Given the description of an element on the screen output the (x, y) to click on. 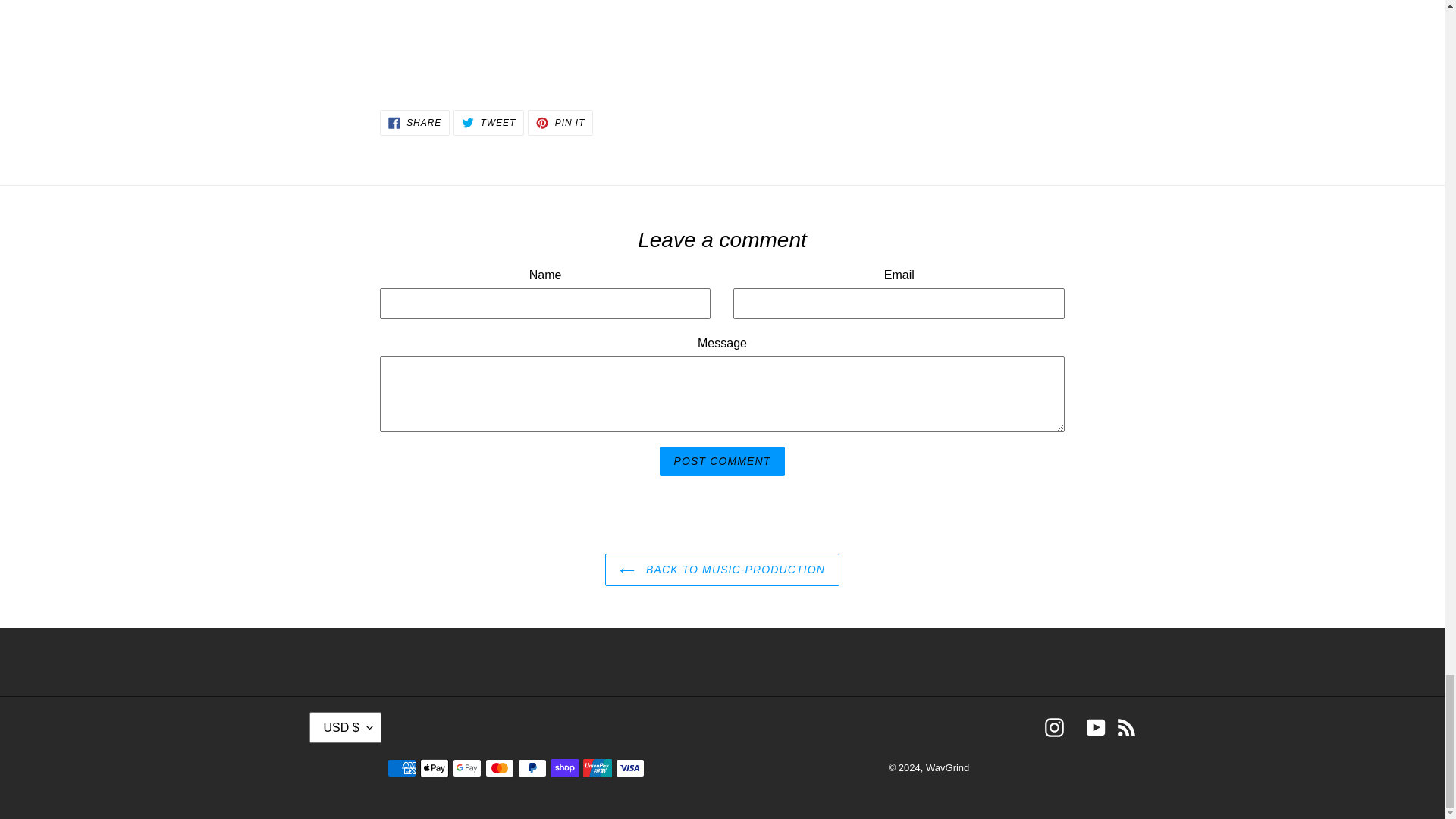
BACK TO MUSIC-PRODUCTION (414, 122)
Post comment (722, 569)
Post comment (559, 122)
